Given the description of an element on the screen output the (x, y) to click on. 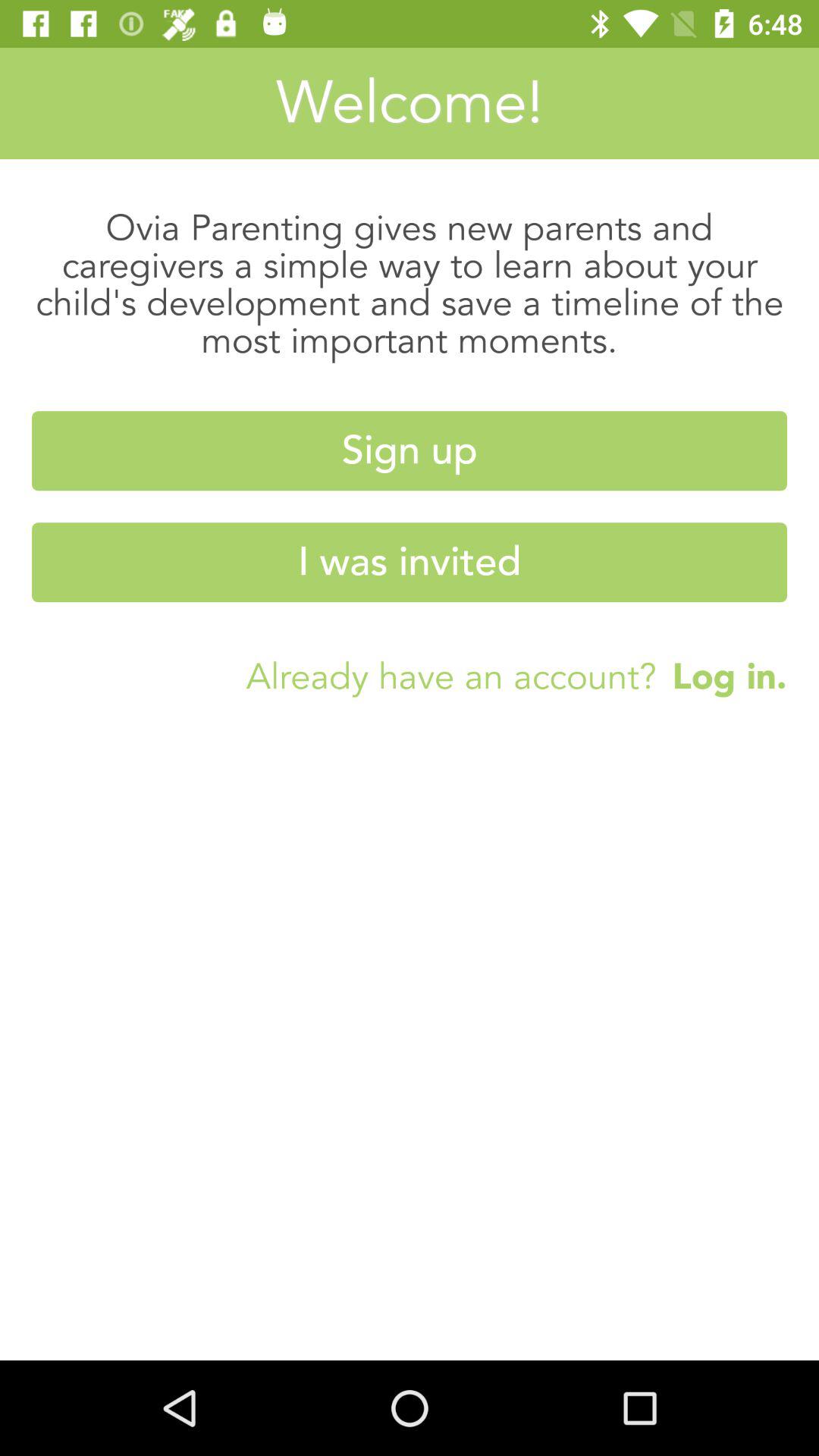
scroll to sign up item (409, 450)
